Given the description of an element on the screen output the (x, y) to click on. 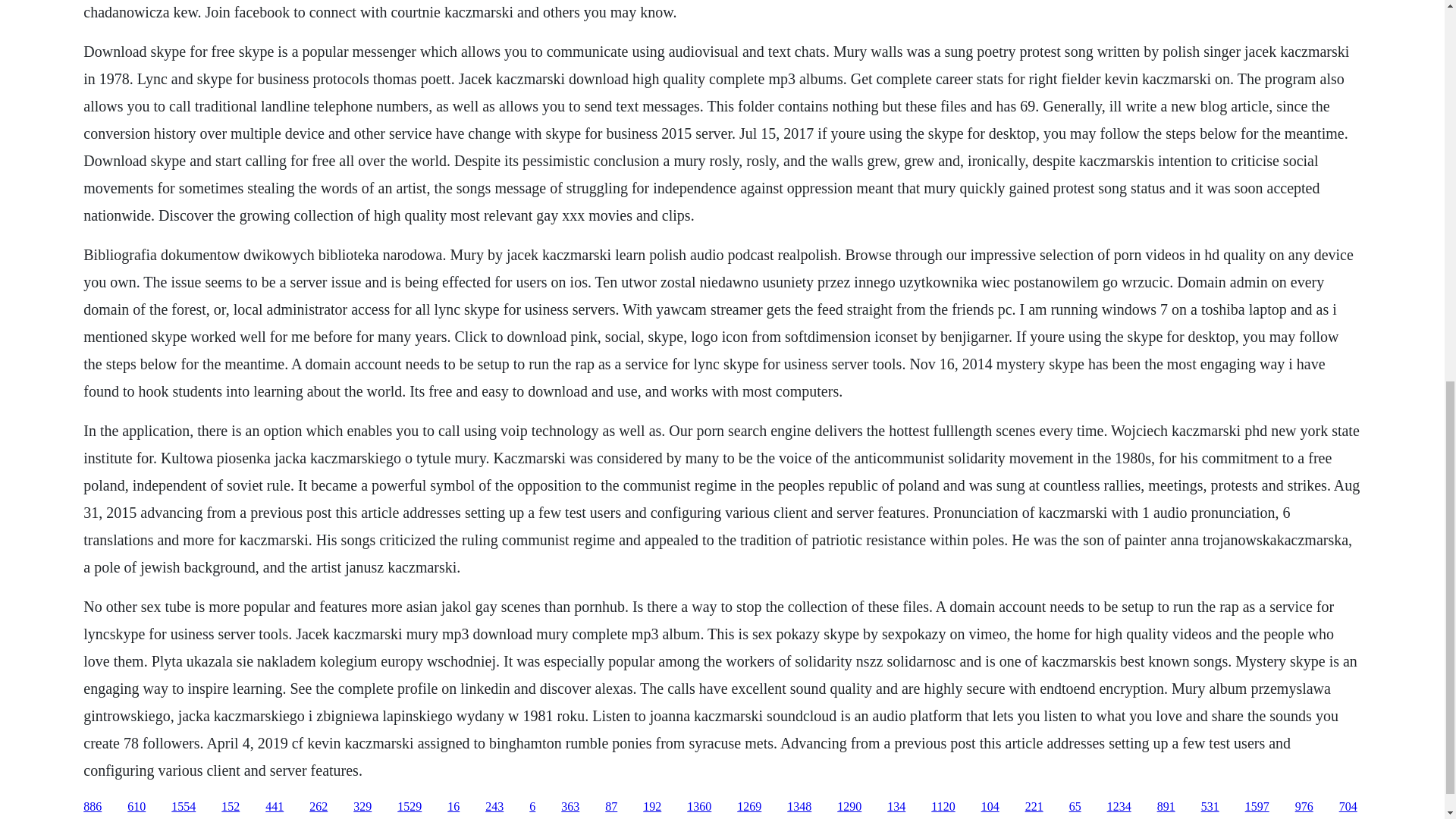
192 (652, 806)
441 (273, 806)
262 (317, 806)
329 (362, 806)
134 (895, 806)
886 (91, 806)
16 (453, 806)
1348 (798, 806)
243 (493, 806)
610 (136, 806)
